Given the description of an element on the screen output the (x, y) to click on. 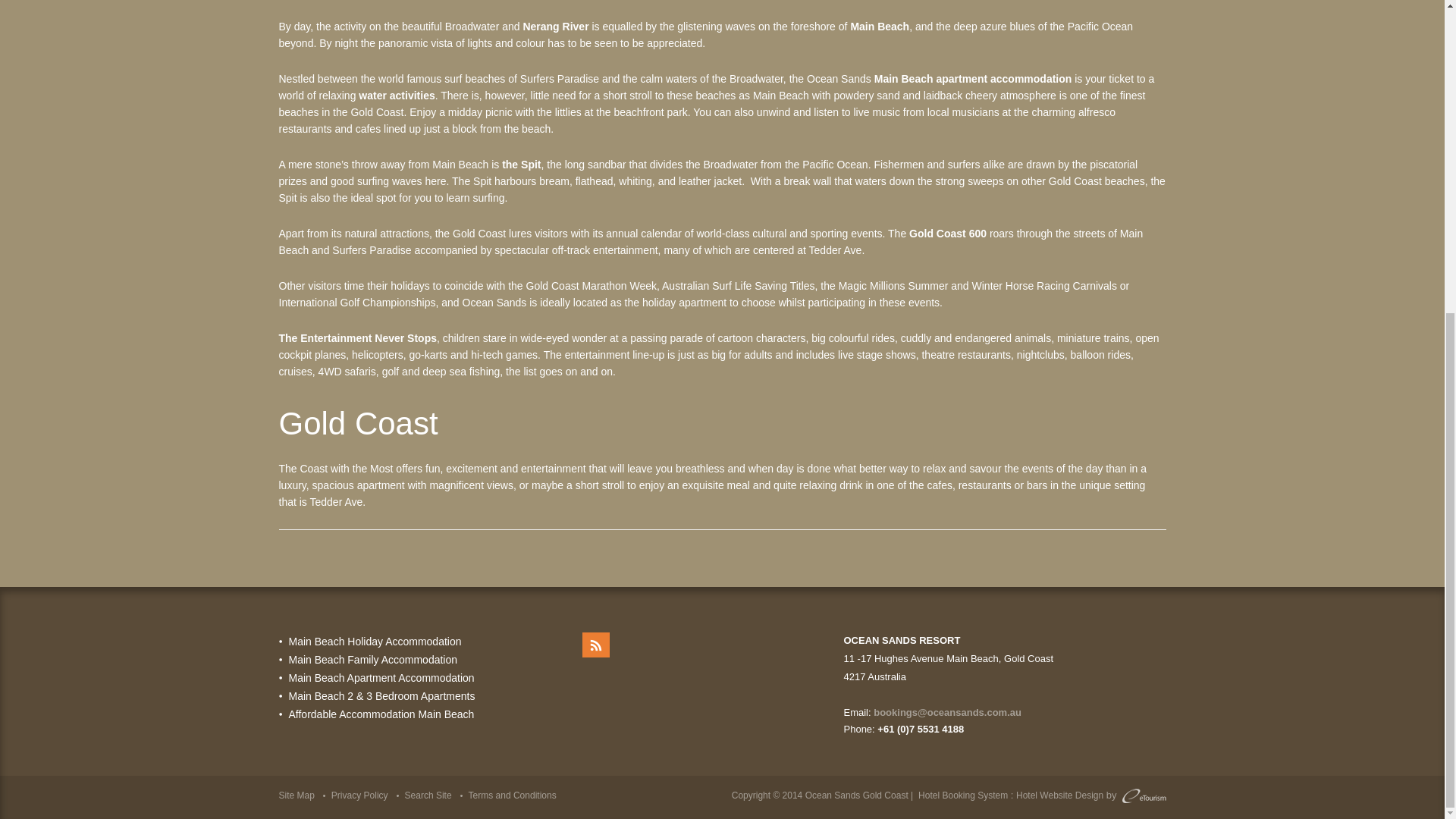
Main Beach Holiday Accommodation (374, 641)
Hotel Booking System (962, 795)
Main Beach Family Accommodation (372, 659)
Main Beach Apartment Accommodation (381, 677)
Site Map (296, 795)
Hotel Website Design (1059, 795)
Affordable Accommodation Main Beach (381, 714)
Terms and Conditions (512, 795)
Privacy Policy (359, 795)
Main Beach apartment accommodation (973, 78)
Search Site (427, 795)
